Given the description of an element on the screen output the (x, y) to click on. 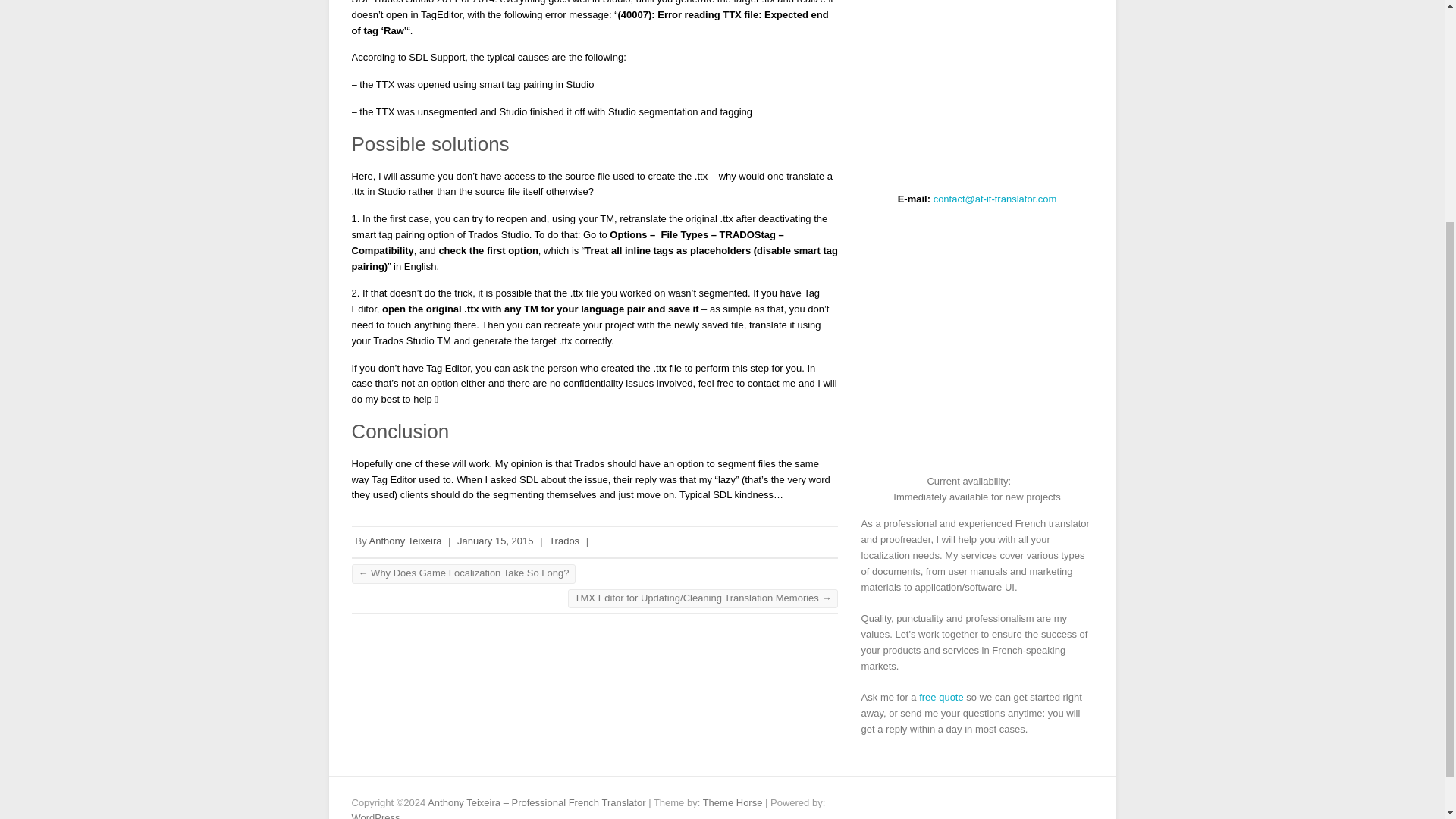
Theme Horse (732, 802)
free quote (940, 696)
Currently available (1020, 480)
Anthony Teixeira (405, 541)
Trados (563, 541)
Theme Horse (732, 802)
Anthony Teixeira - Professional French Translator Facebook (1036, 802)
Anthony Teixeira - Professional French Translator Twitter (1059, 802)
Anthony Teixeira - Professional French Translator on Twitter (1059, 802)
